Given the description of an element on the screen output the (x, y) to click on. 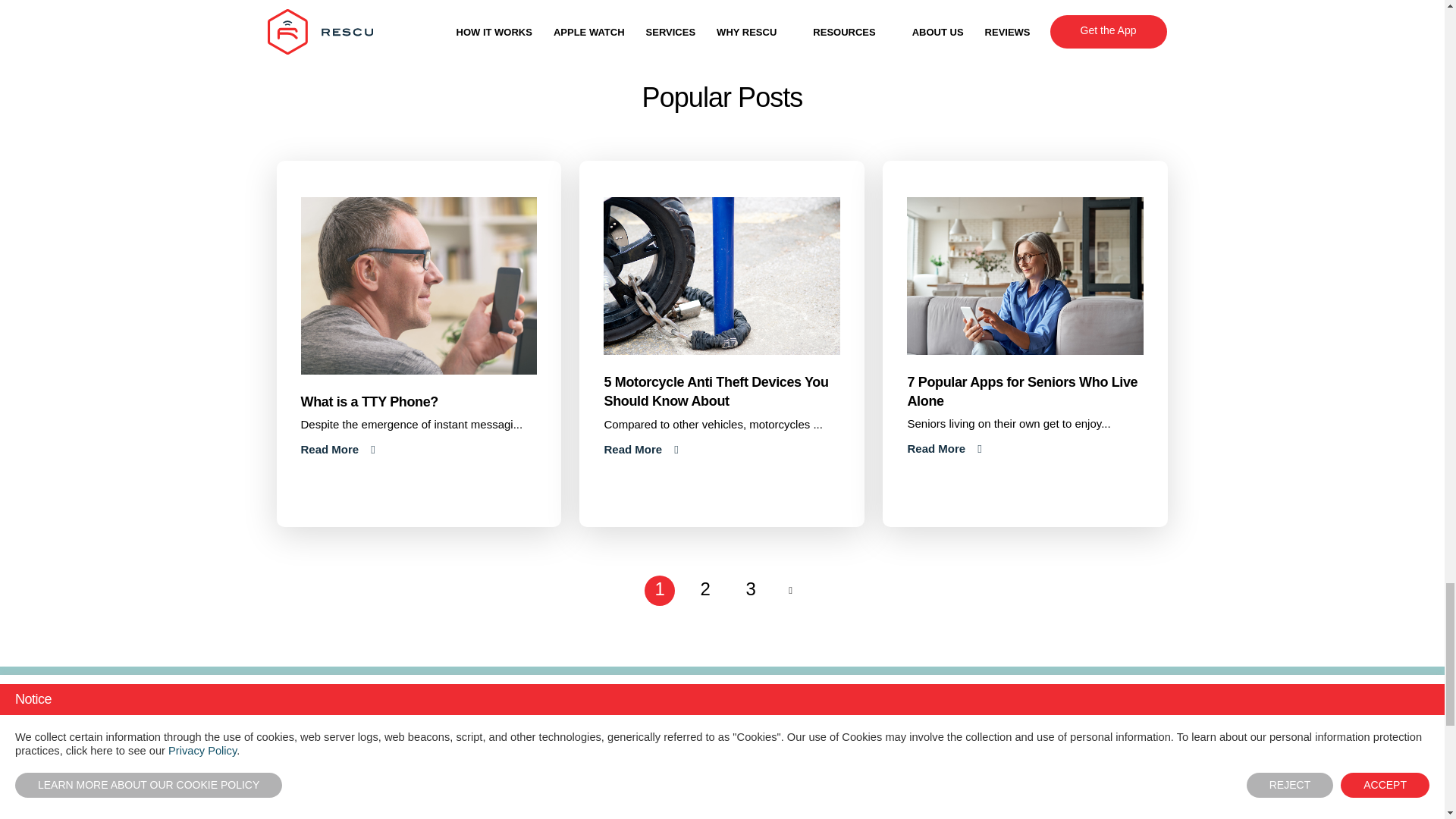
7 Popular Apps for Seniors Who Live Alone (1024, 273)
5 Motorcycle Anti Theft Devices You Should Know About (716, 391)
What is a TTY Phone? (368, 401)
What is a TTY Phone? (336, 449)
What is a TTY Phone? (418, 283)
7 Popular Apps for Seniors Who Live Alone (1022, 391)
5 Motorcycle Anti Theft Devices You Should Know About (944, 448)
5 Motorcycle Anti Theft Devices You Should Know About (641, 449)
